Given the description of an element on the screen output the (x, y) to click on. 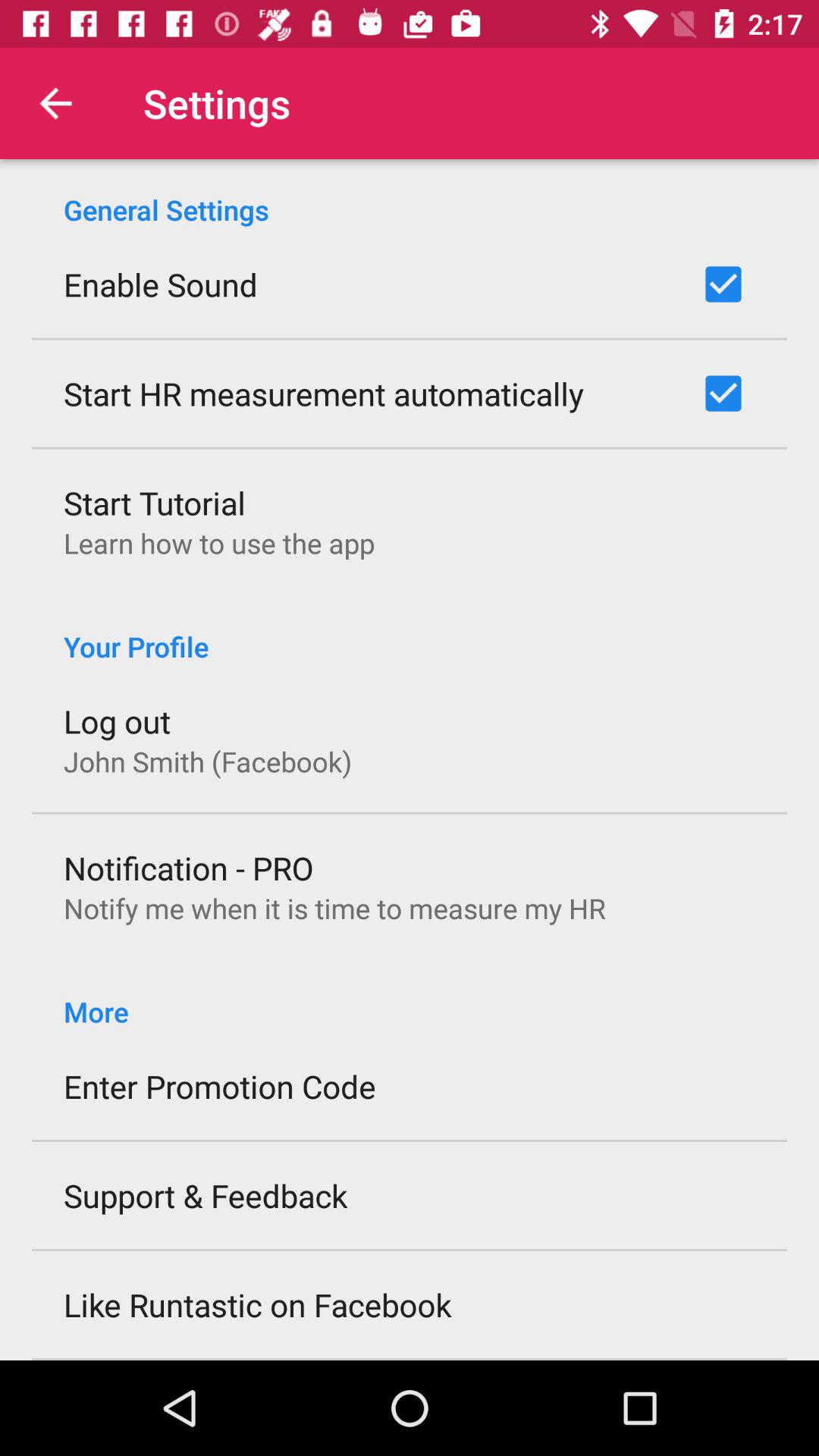
select icon above start tutorial item (323, 393)
